Given the description of an element on the screen output the (x, y) to click on. 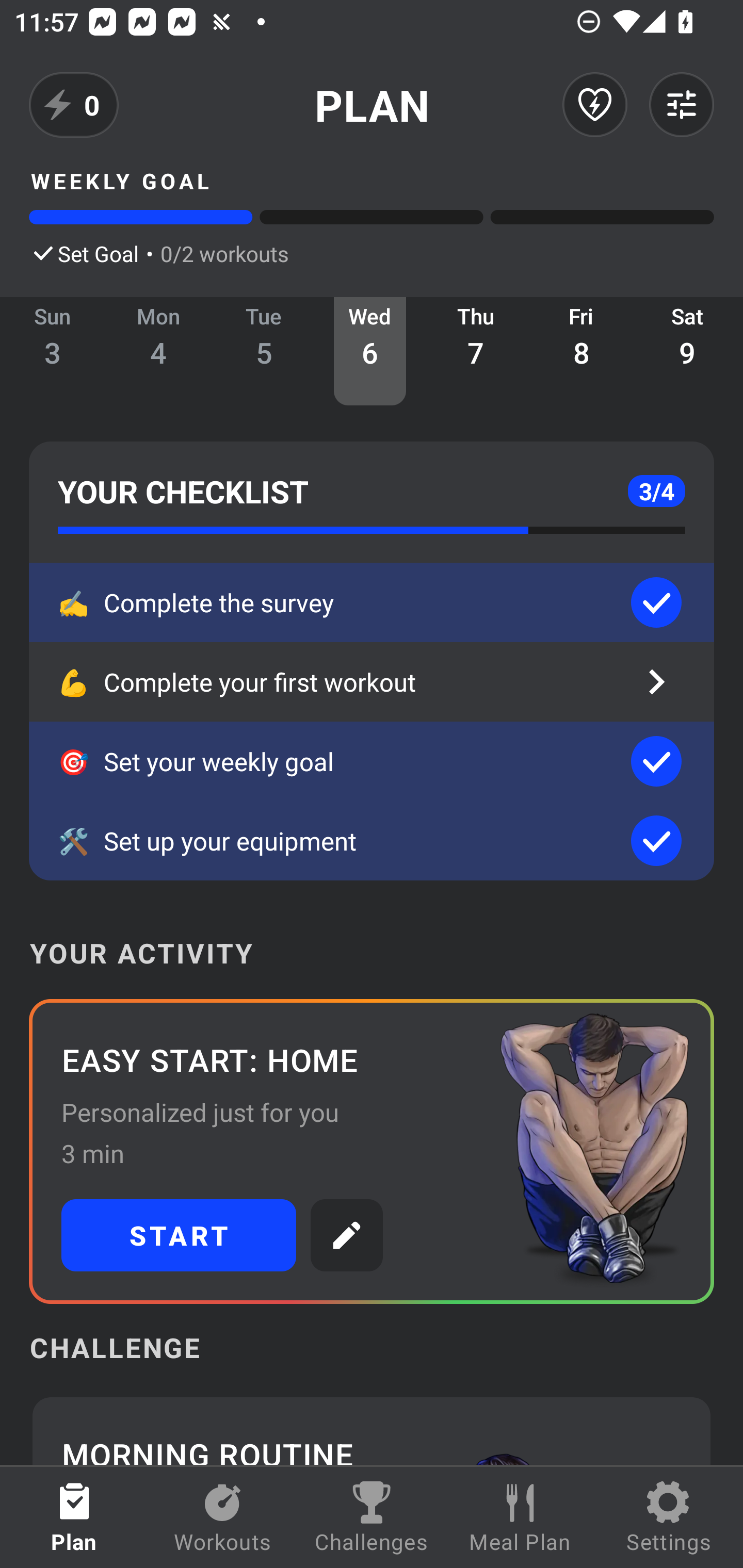
0 (73, 104)
Sun 3 (52, 351)
Mon 4 (158, 351)
Tue 5 (264, 351)
Wed 6 (369, 351)
Thu 7 (475, 351)
Fri 8 (581, 351)
Sat 9 (687, 351)
💪 Complete your first workout (371, 681)
START (178, 1235)
 Workouts  (222, 1517)
 Challenges  (371, 1517)
 Meal Plan  (519, 1517)
 Settings  (668, 1517)
